Given the description of an element on the screen output the (x, y) to click on. 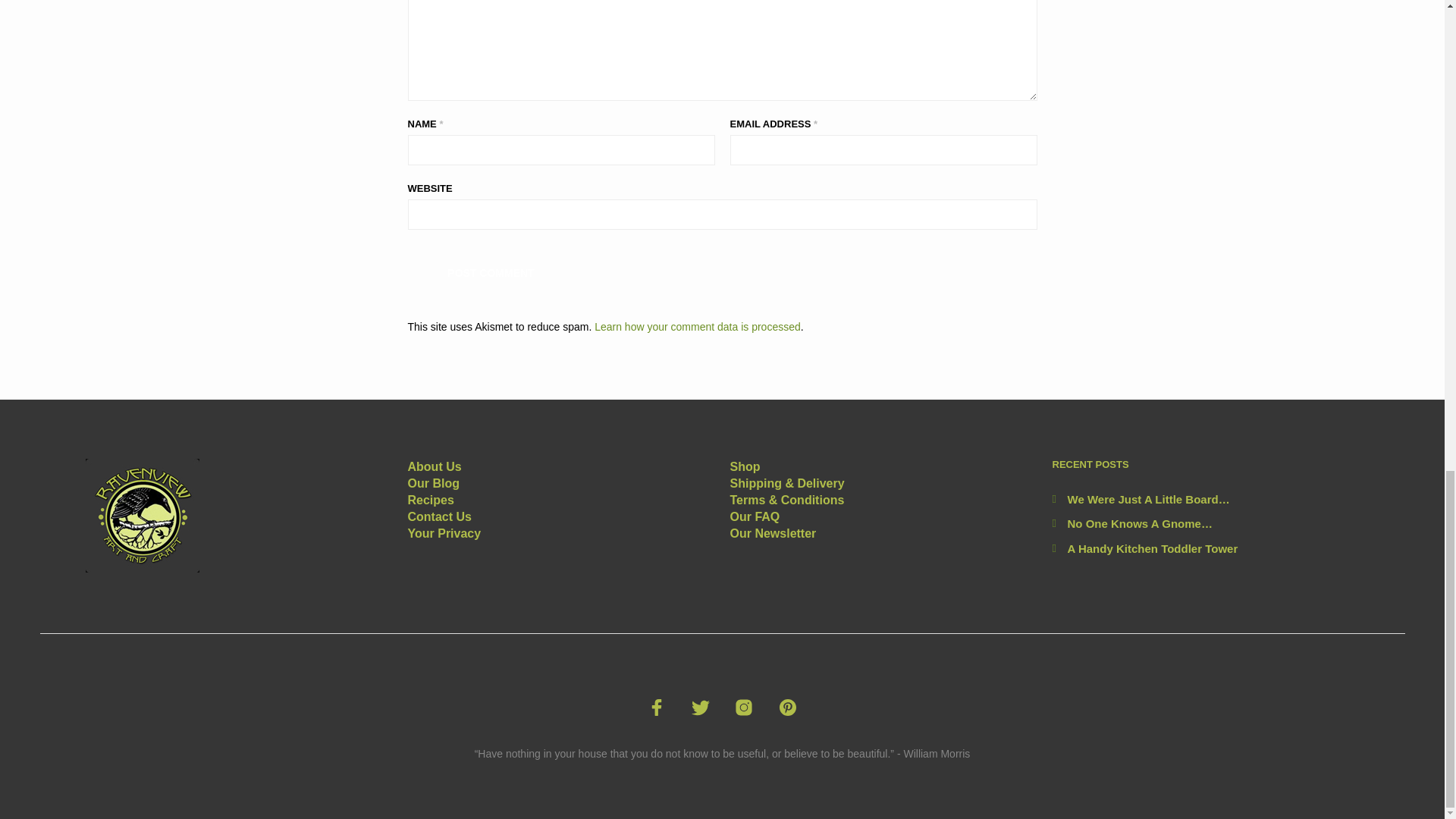
Our Blog (433, 482)
Post Comment (491, 272)
Recipes (430, 499)
Post Comment (491, 272)
Our Newsletter (772, 533)
Shop (744, 466)
Contact Us (439, 516)
A Handy Kitchen Toddler Tower (1153, 548)
About Us (434, 466)
Learn how your comment data is processed (697, 326)
